Given the description of an element on the screen output the (x, y) to click on. 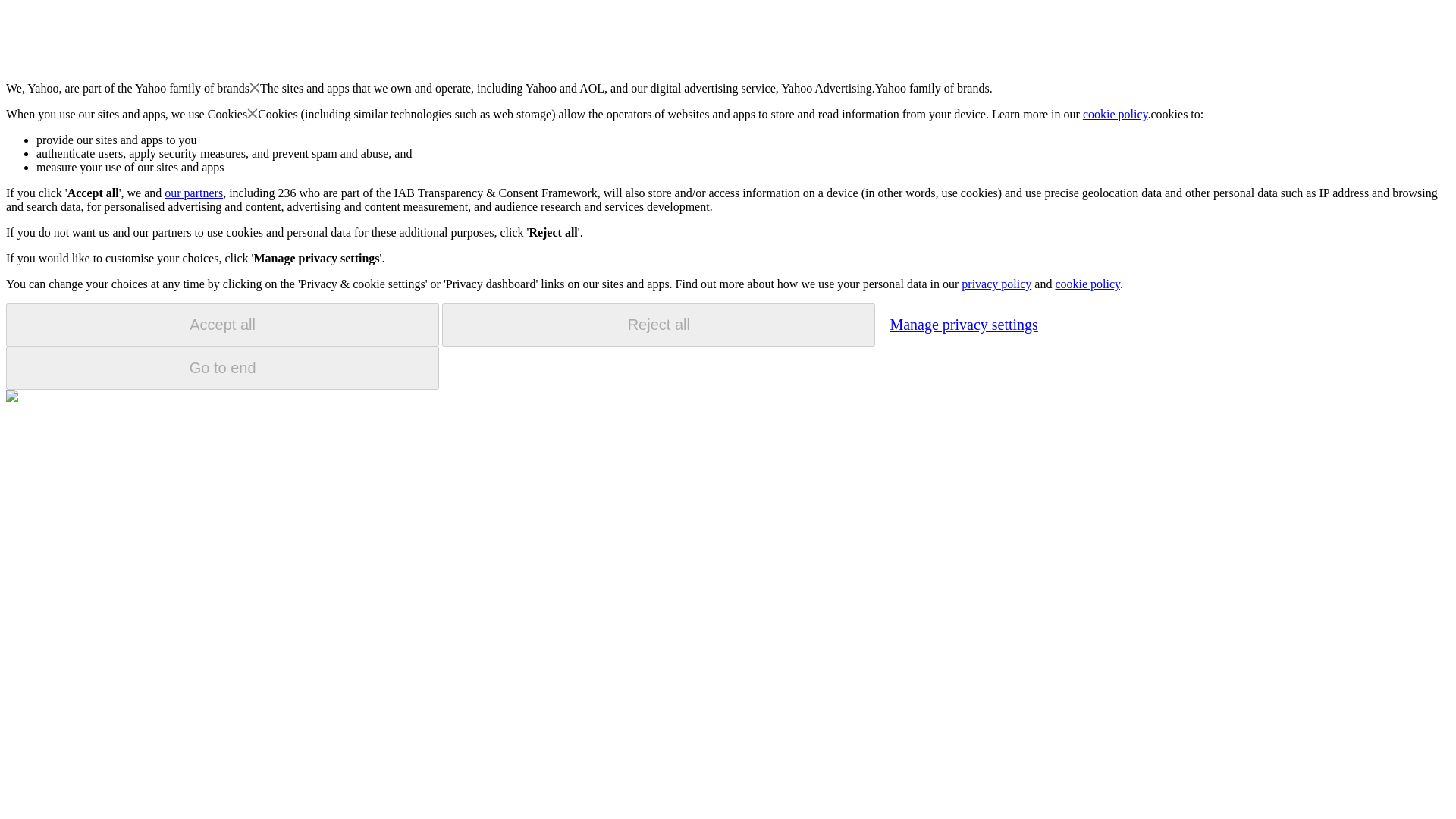
Go to end (222, 367)
Reject all (658, 324)
cookie policy (1115, 113)
privacy policy (995, 283)
Accept all (222, 324)
cookie policy (1086, 283)
Manage privacy settings (963, 323)
our partners (193, 192)
